Given the description of an element on the screen output the (x, y) to click on. 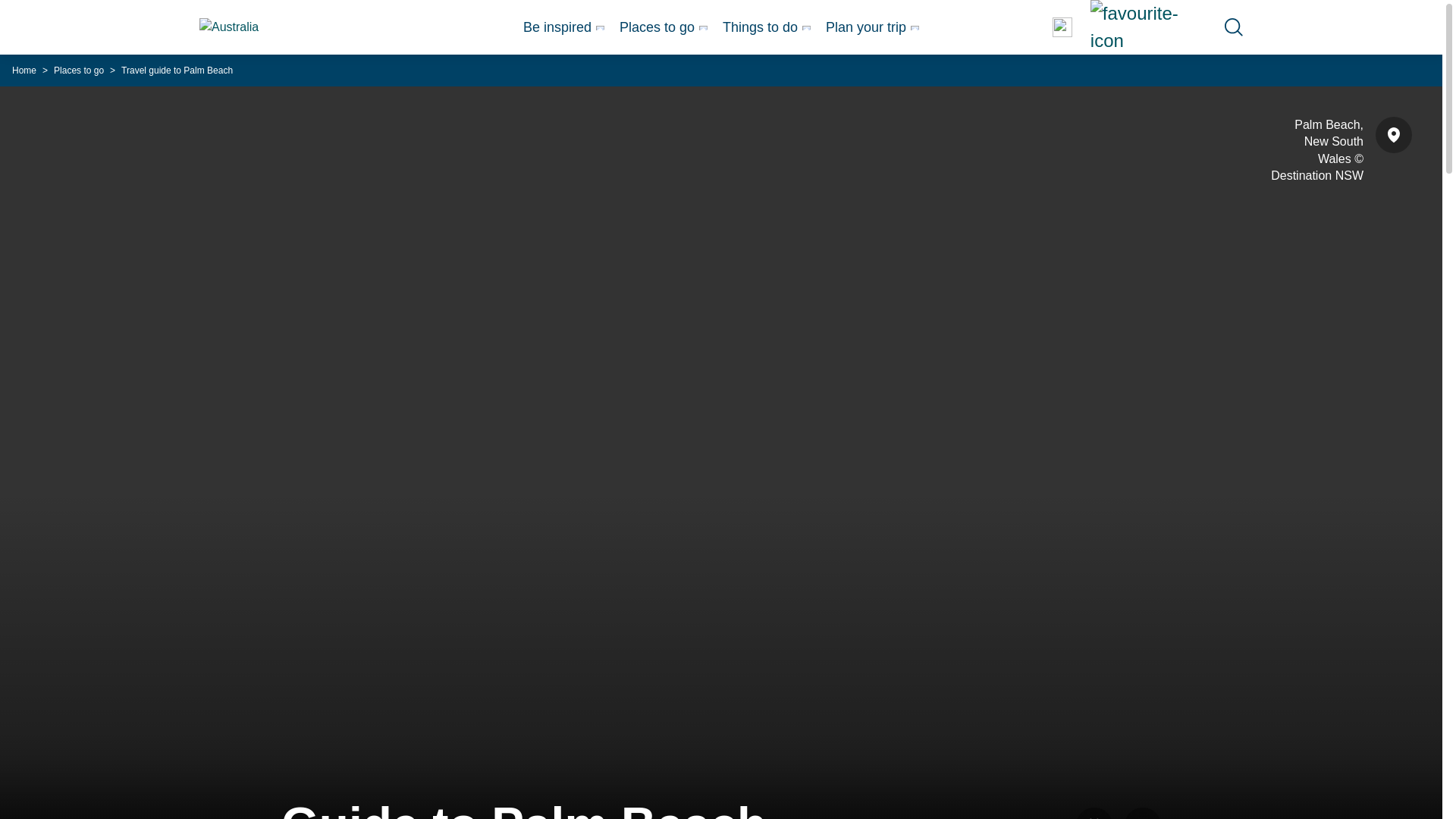
Australia (248, 27)
Plan your trip (871, 27)
Things to do (766, 27)
Places to go (663, 27)
Be inspired (563, 27)
